Given the description of an element on the screen output the (x, y) to click on. 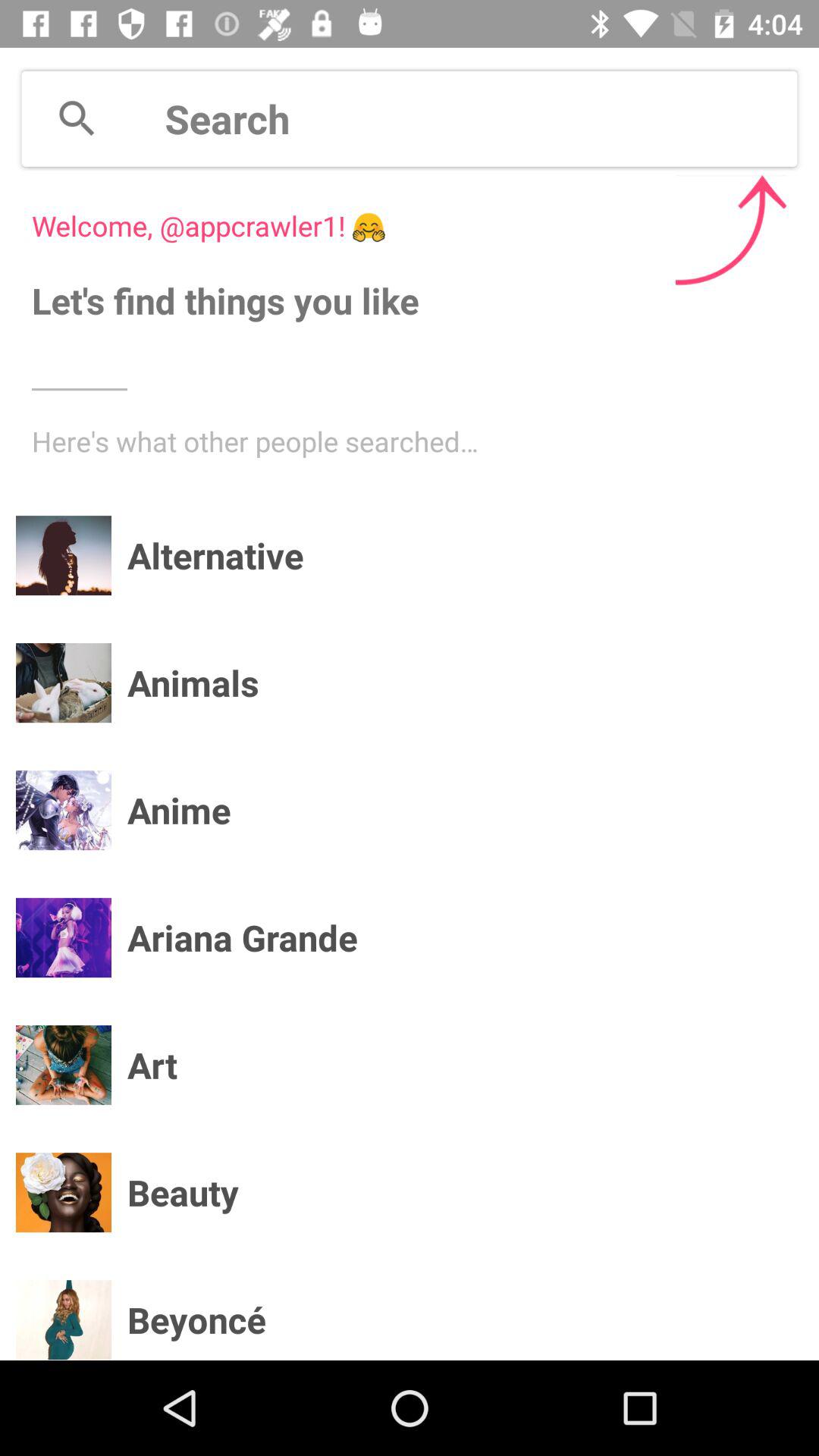
enter search term (480, 118)
